Given the description of an element on the screen output the (x, y) to click on. 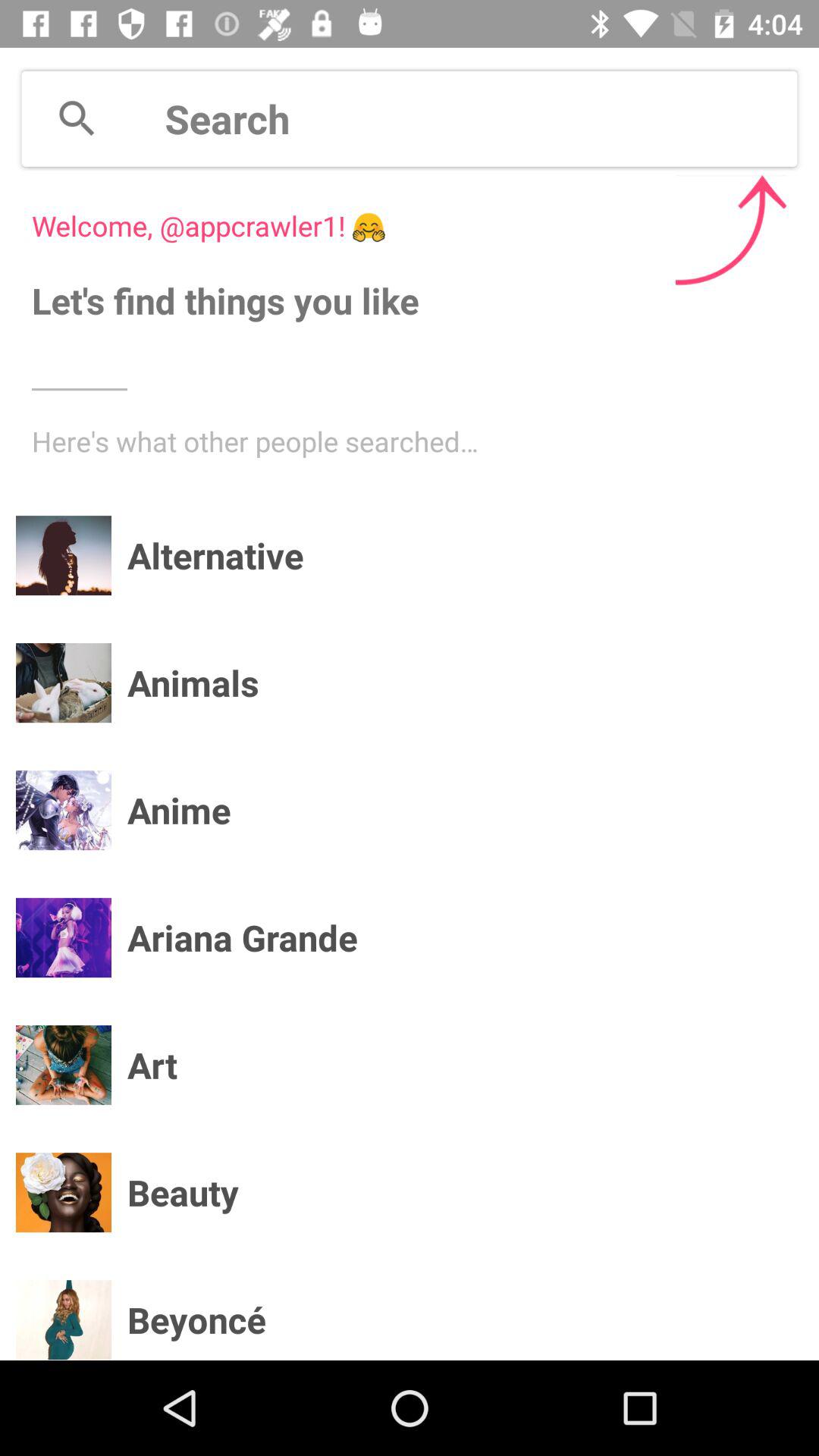
enter search term (480, 118)
